Given the description of an element on the screen output the (x, y) to click on. 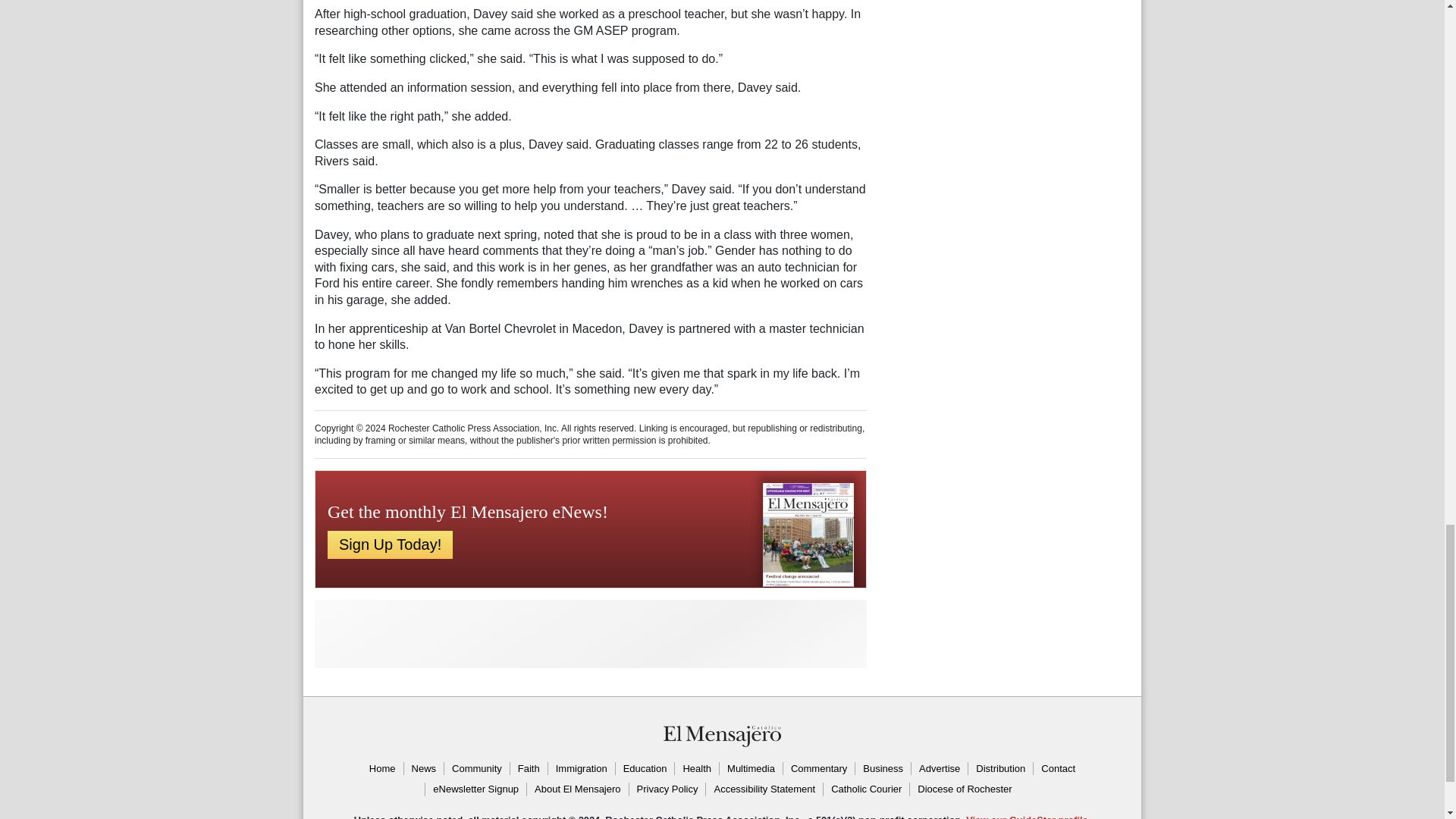
Immigration (580, 768)
Advertise (939, 768)
Distribution (1000, 768)
Multimedia (751, 768)
Contact (1057, 768)
News (423, 768)
Health (696, 768)
Business (882, 768)
Education (644, 768)
Commentary (818, 768)
